Given the description of an element on the screen output the (x, y) to click on. 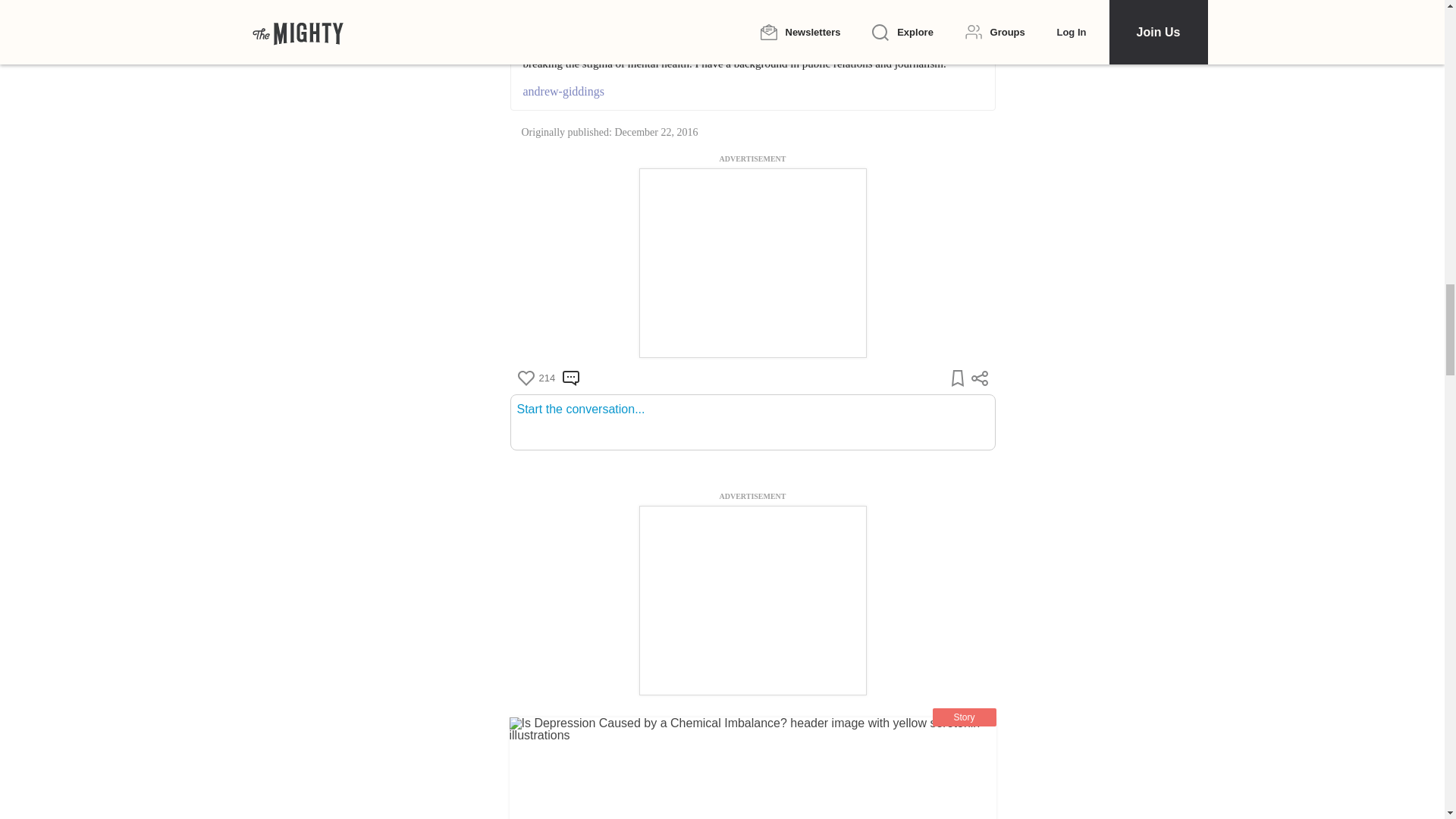
Andrew Giddings (626, 2)
Is Depression Really Caused by a 'Chemical Imbalance'? (752, 768)
Follow (699, 2)
214 (535, 378)
andrew-giddings (752, 91)
